Given the description of an element on the screen output the (x, y) to click on. 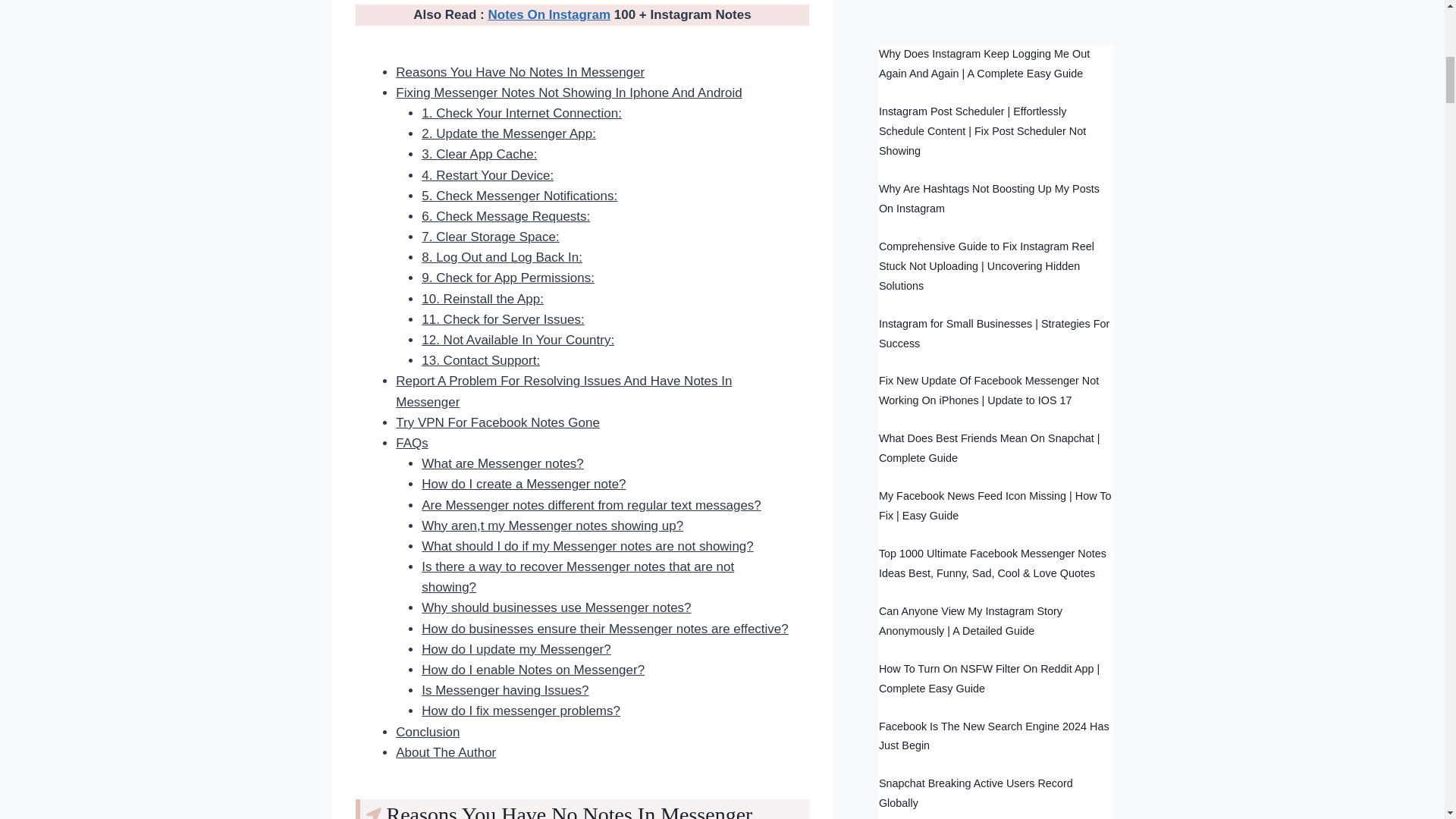
13. Contact Support: (481, 359)
How do I update my Messenger? (516, 649)
1. Check Your Internet Connection: (521, 113)
Fixing Messenger Notes Not Showing In Iphone And Android (568, 92)
Try VPN For Facebook Notes Gone (497, 422)
11. Check for Server Issues: (502, 319)
How do I create a Messenger note? (524, 483)
5. Check Messenger Notifications: (519, 196)
9. Check for App Permissions: (508, 278)
